Given the description of an element on the screen output the (x, y) to click on. 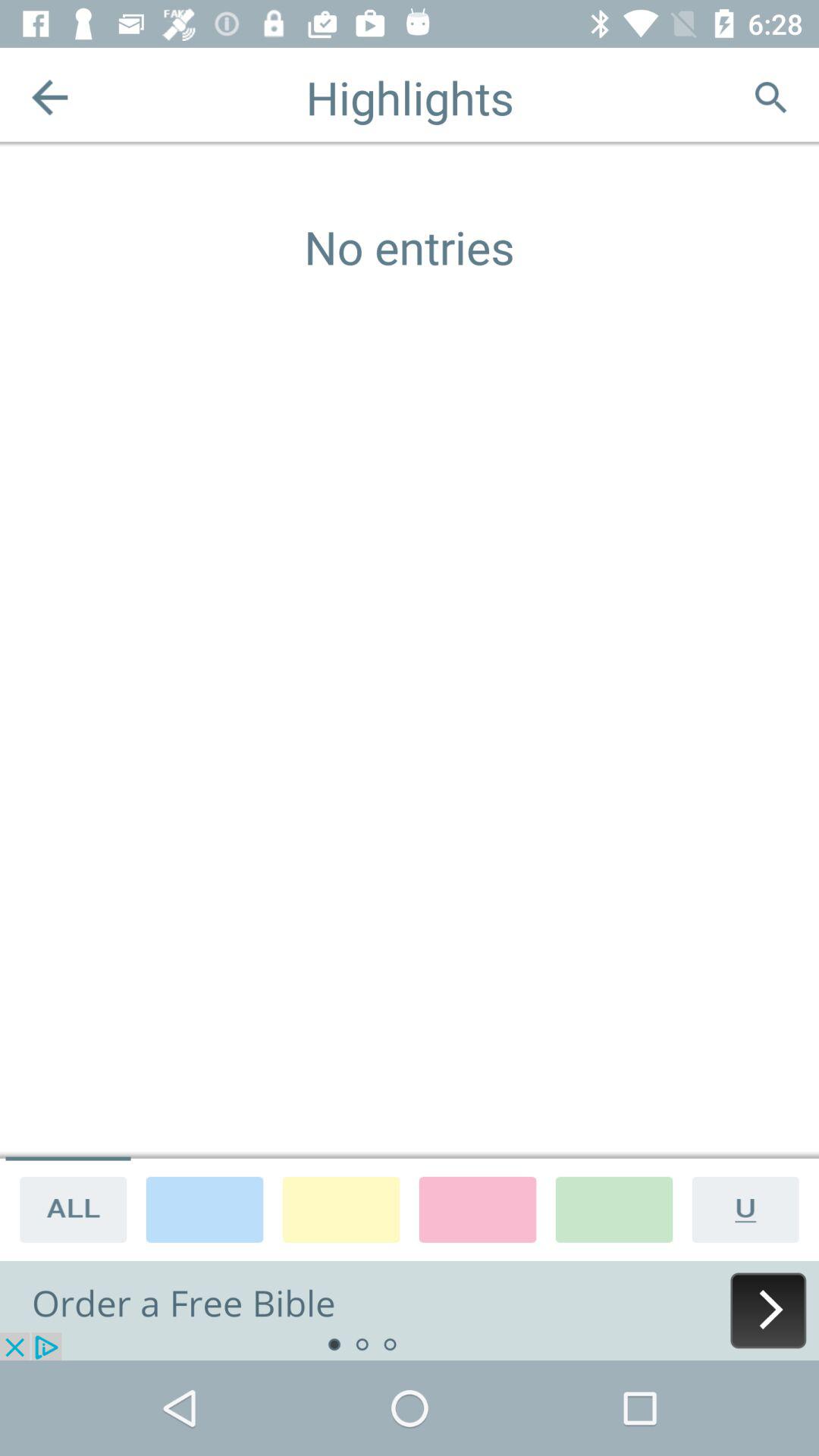
select the green colour (614, 1208)
